Given the description of an element on the screen output the (x, y) to click on. 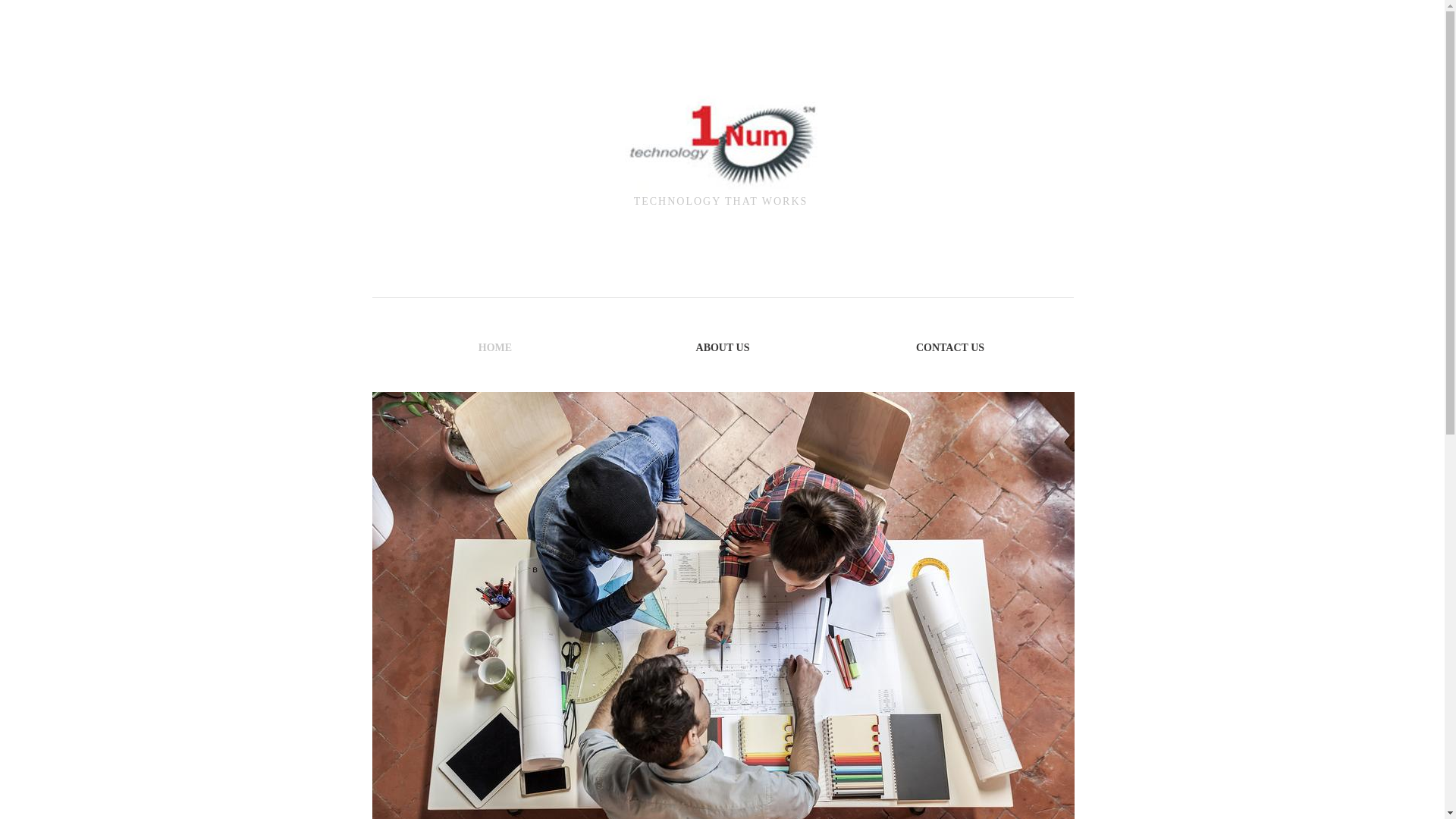
ABOUT US Element type: text (722, 347)
HOME Element type: text (494, 347)
CONTACT US Element type: text (949, 347)
